Given the description of an element on the screen output the (x, y) to click on. 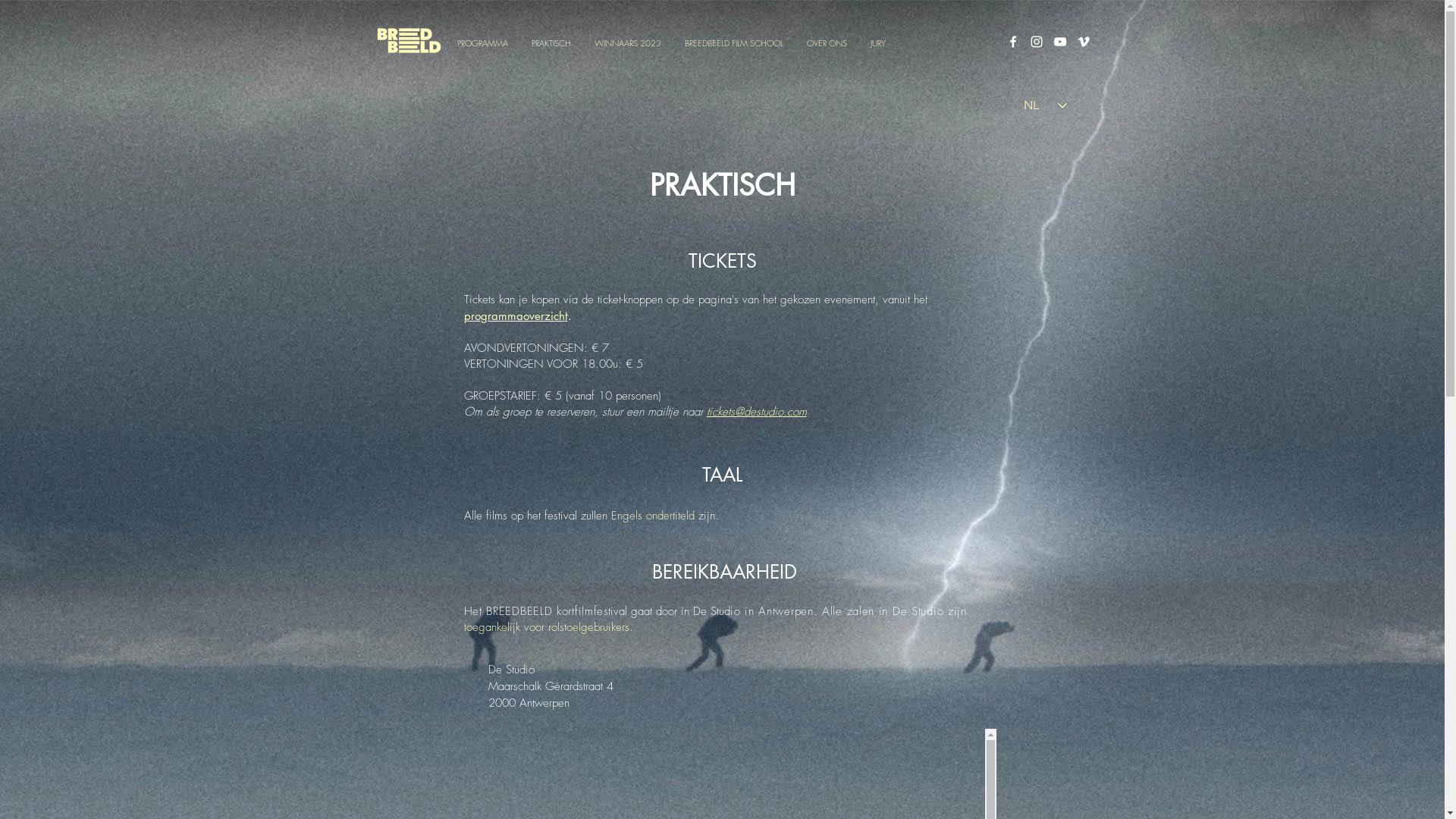
OVER ONS Element type: text (826, 42)
PROGRAMMA Element type: text (482, 42)
tickets@destudio.com Element type: text (756, 411)
WINNAARS 2023 Element type: text (627, 42)
PRAKTISCH Element type: text (551, 42)
JURY Element type: text (878, 42)
programmaoverzicht Element type: text (515, 315)
BREEDBEELD FILM SCHOOL Element type: text (733, 42)
